Given the description of an element on the screen output the (x, y) to click on. 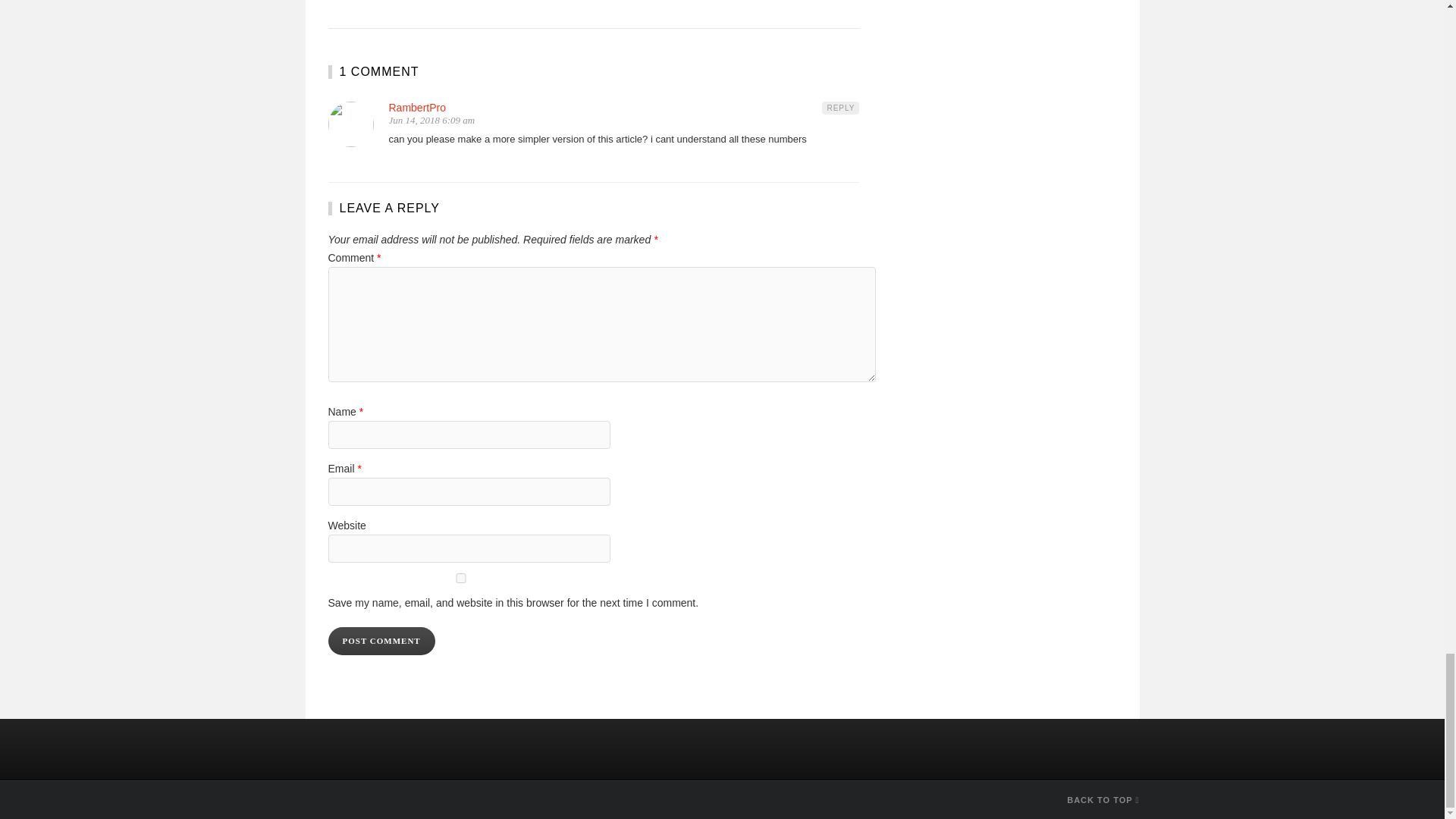
yes (459, 578)
Post Comment (380, 641)
